Given the description of an element on the screen output the (x, y) to click on. 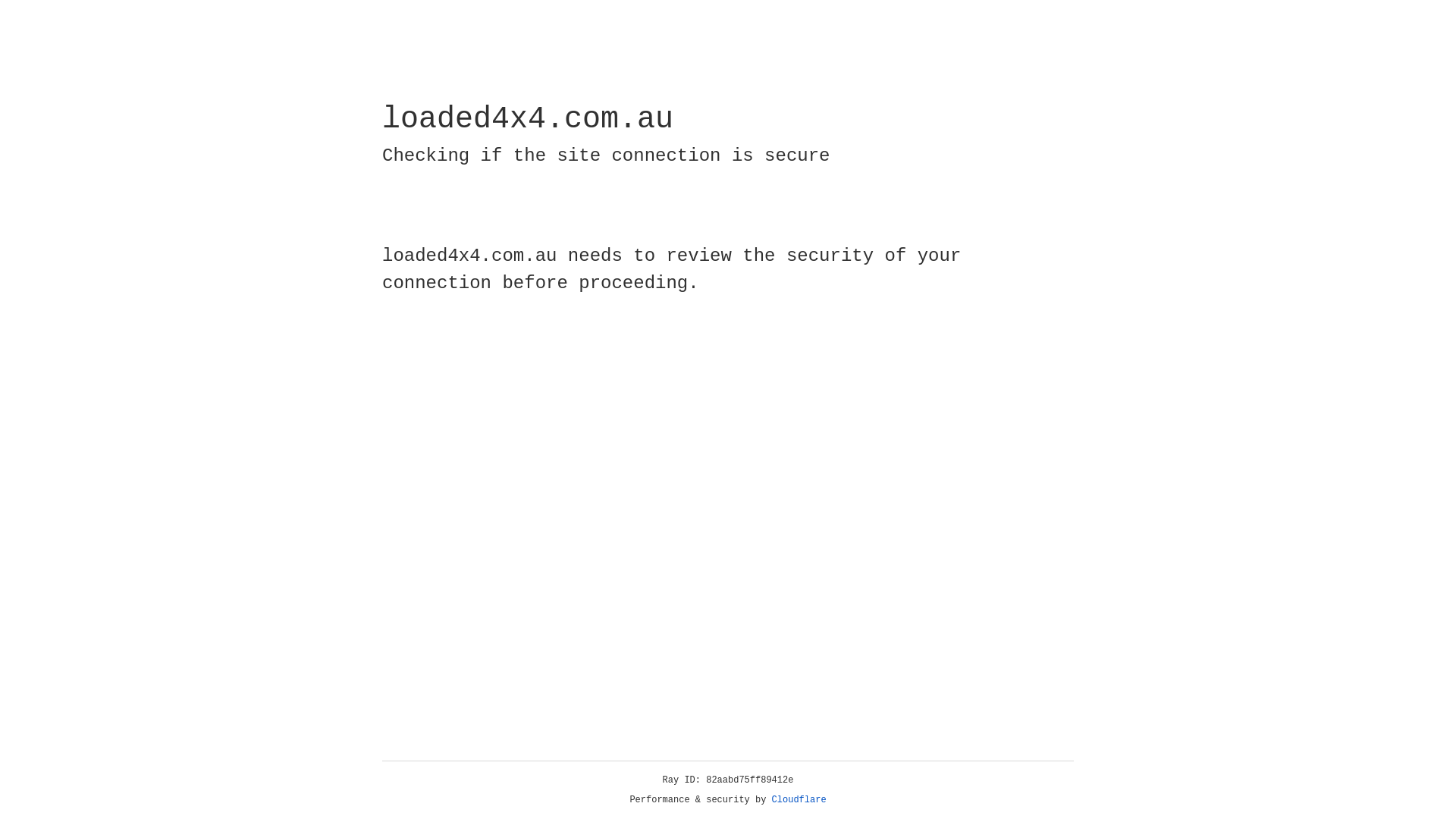
Cloudflare Element type: text (798, 799)
